Given the description of an element on the screen output the (x, y) to click on. 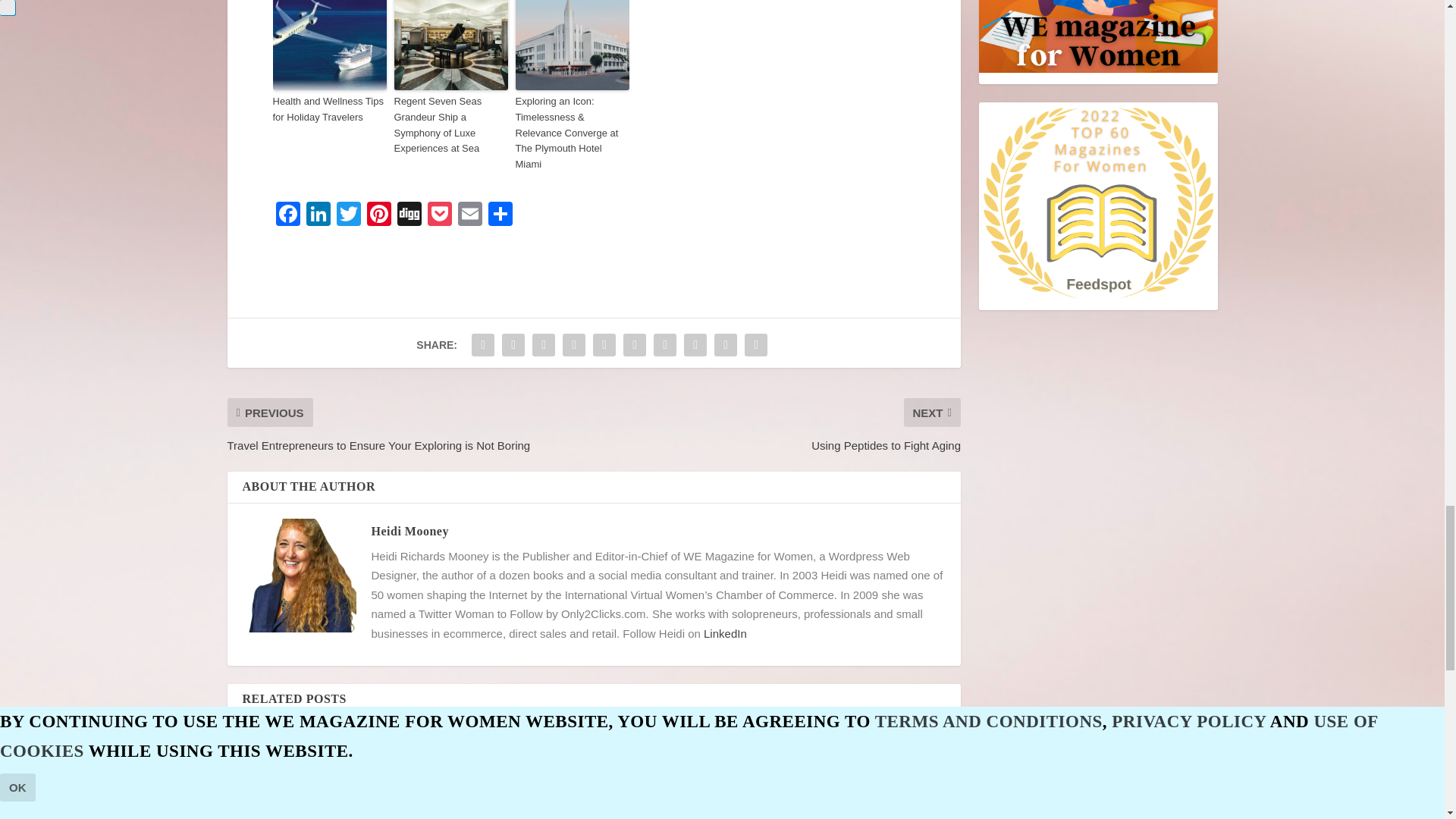
Facebook (287, 215)
Pocket (439, 215)
Pinterest (379, 215)
LinkedIn (317, 215)
Twitter (348, 215)
Email (469, 215)
Digg (409, 215)
